Given the description of an element on the screen output the (x, y) to click on. 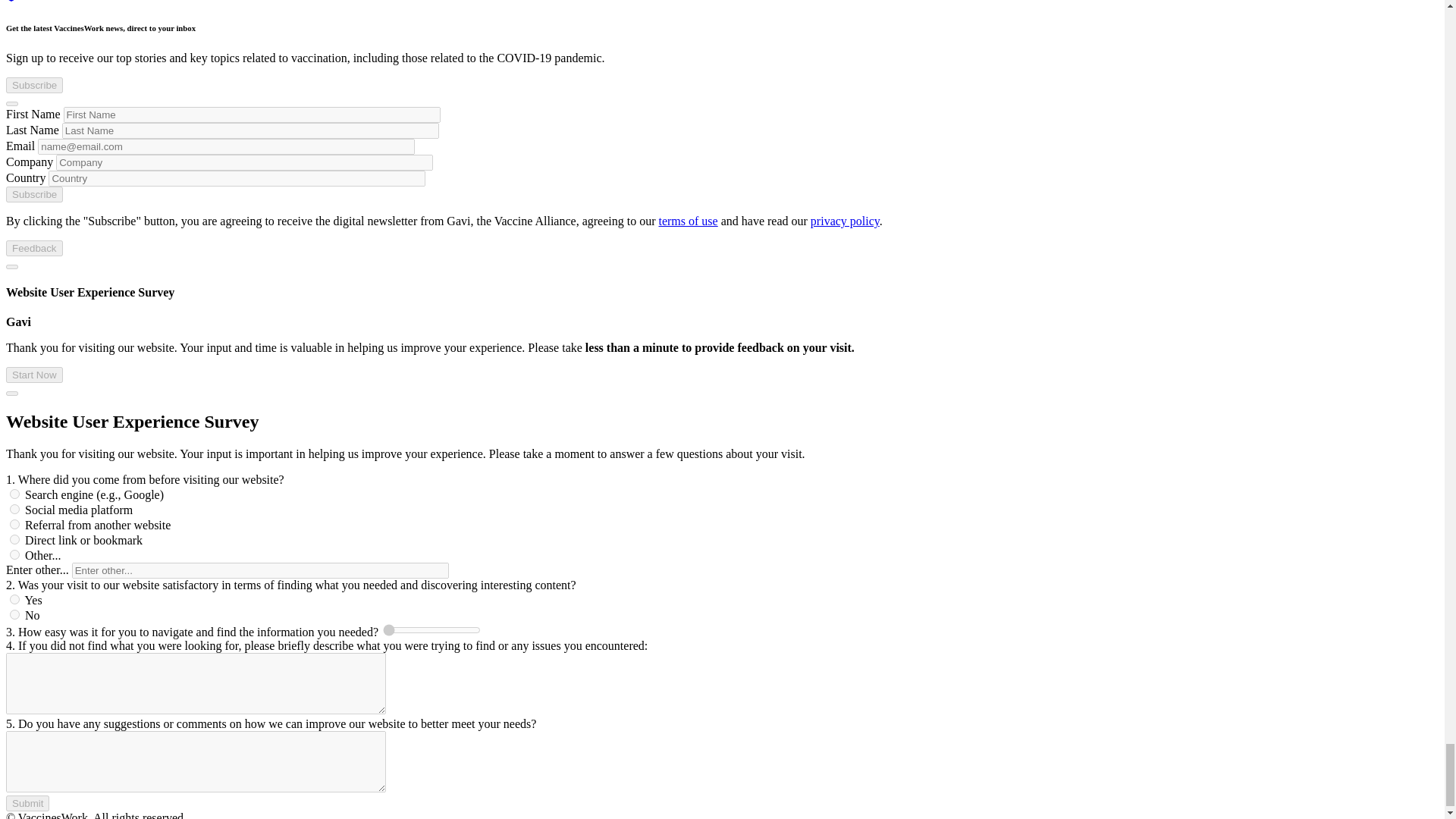
Submit (27, 803)
Search engine (15, 493)
Referral from another website (15, 524)
Yes (15, 599)
Direct link or bookmark (15, 539)
0 (431, 630)
Subscribe (33, 194)
Social media platform (15, 509)
No (15, 614)
